Given the description of an element on the screen output the (x, y) to click on. 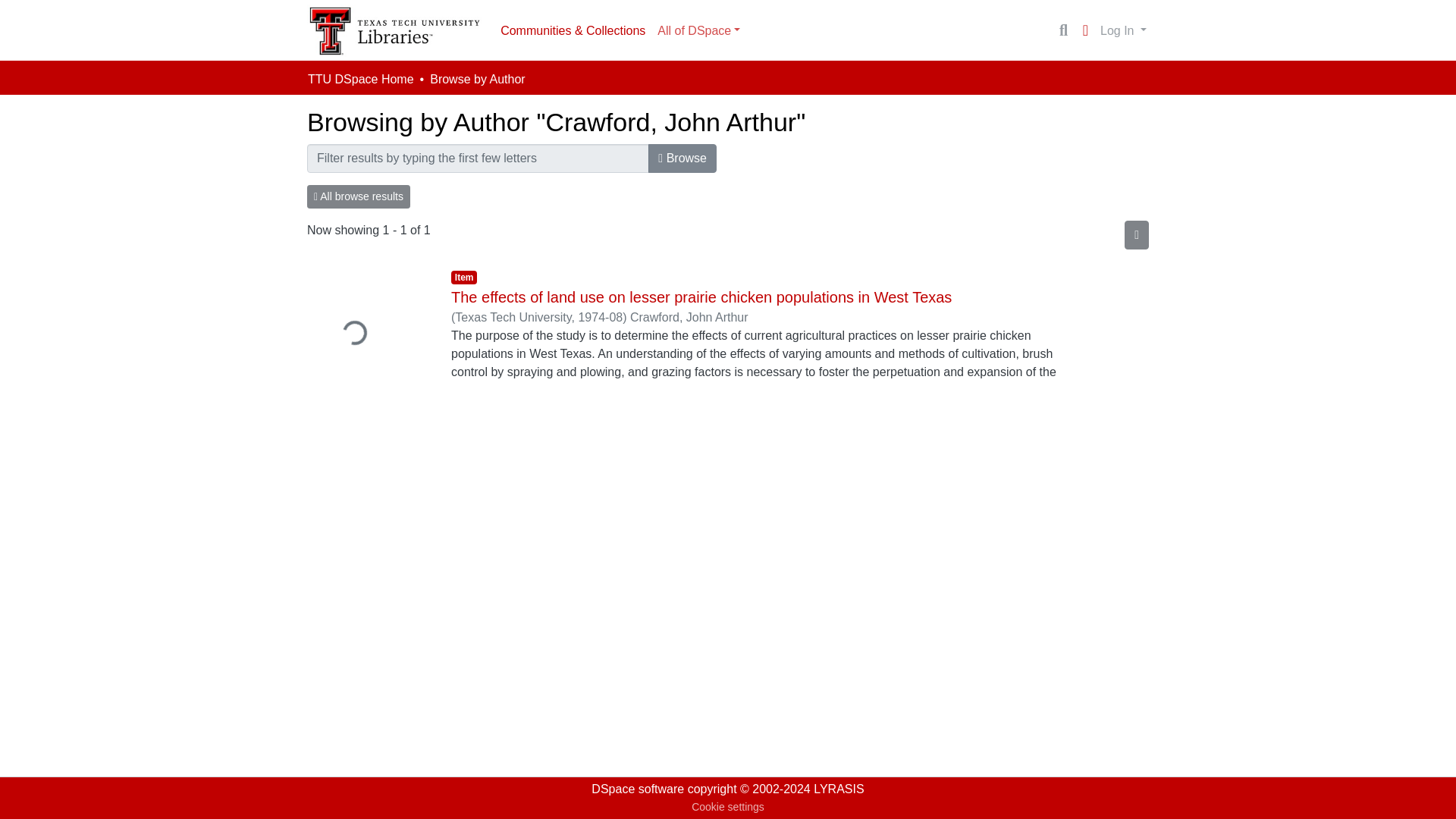
All browse results (358, 196)
All of DSpace (697, 30)
Loading... (367, 334)
TTU DSpace Home (360, 79)
Browse (681, 158)
Log In (1122, 30)
Search (1063, 30)
DSpace software (637, 788)
Cookie settings (727, 806)
Language switch (1084, 30)
LYRASIS (838, 788)
